Given the description of an element on the screen output the (x, y) to click on. 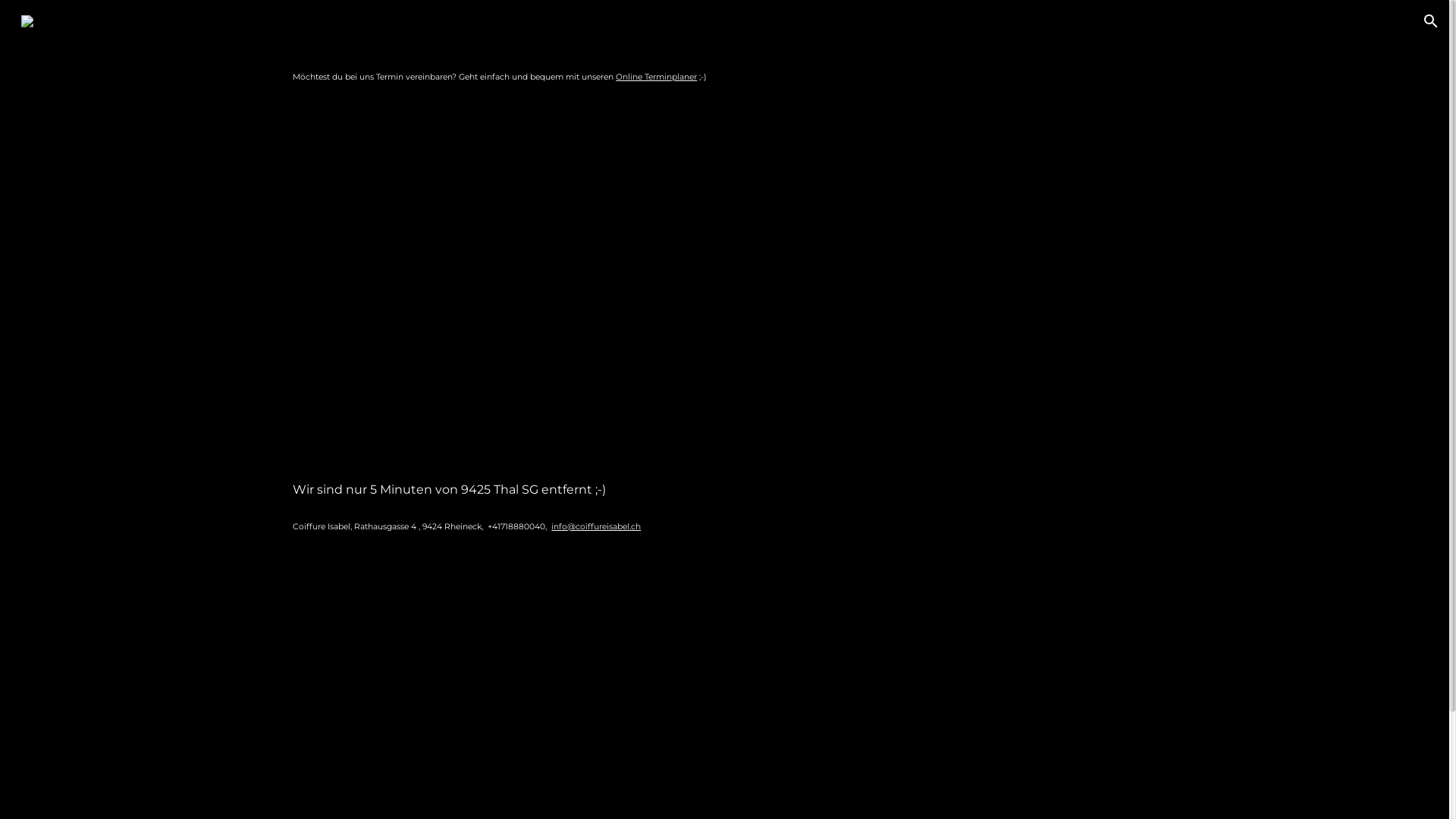
info@coiffureisabel.ch Element type: text (595, 526)
Online Terminplaner Element type: text (655, 76)
